Given the description of an element on the screen output the (x, y) to click on. 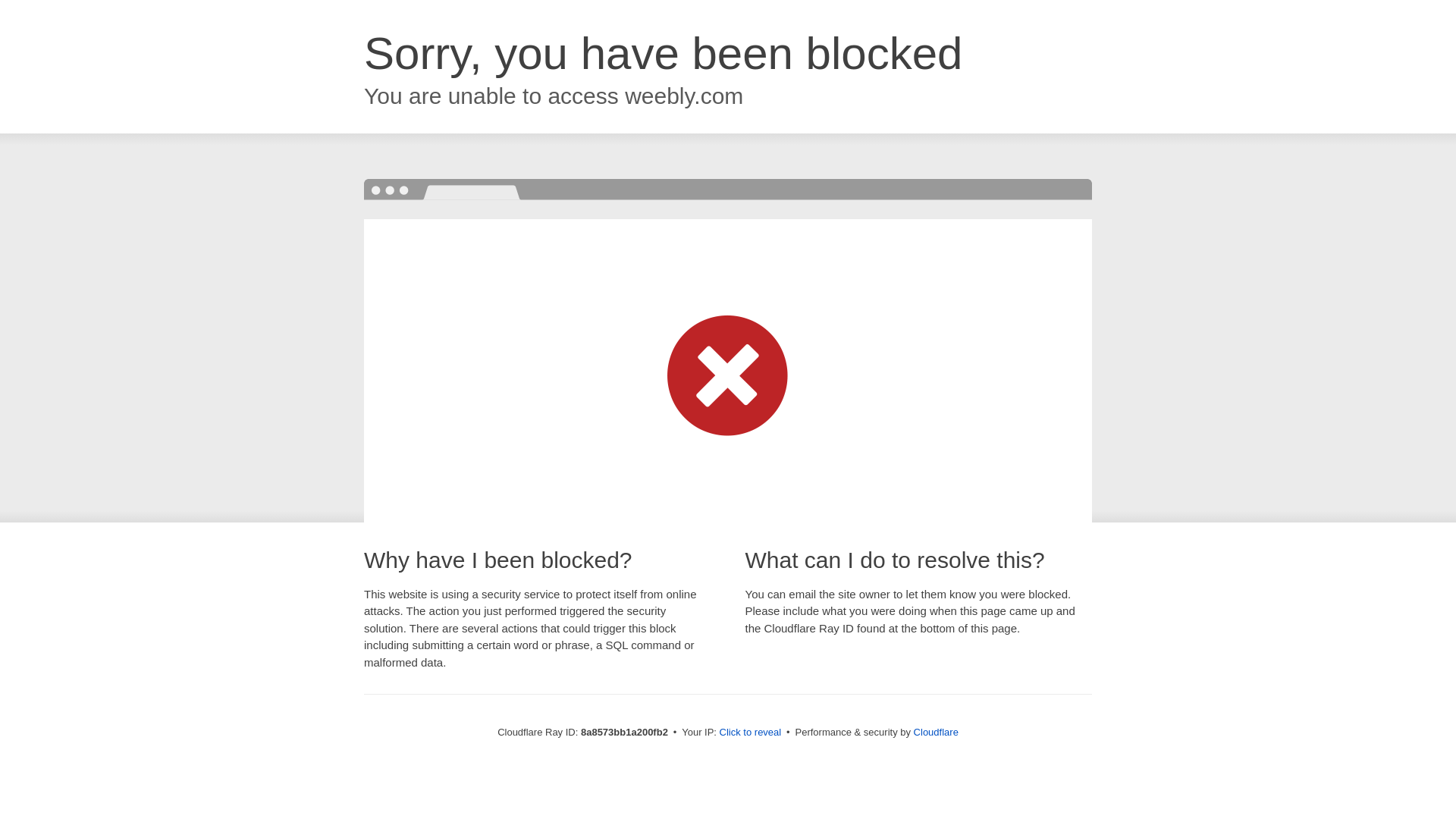
Cloudflare (936, 731)
Click to reveal (750, 732)
